Given the description of an element on the screen output the (x, y) to click on. 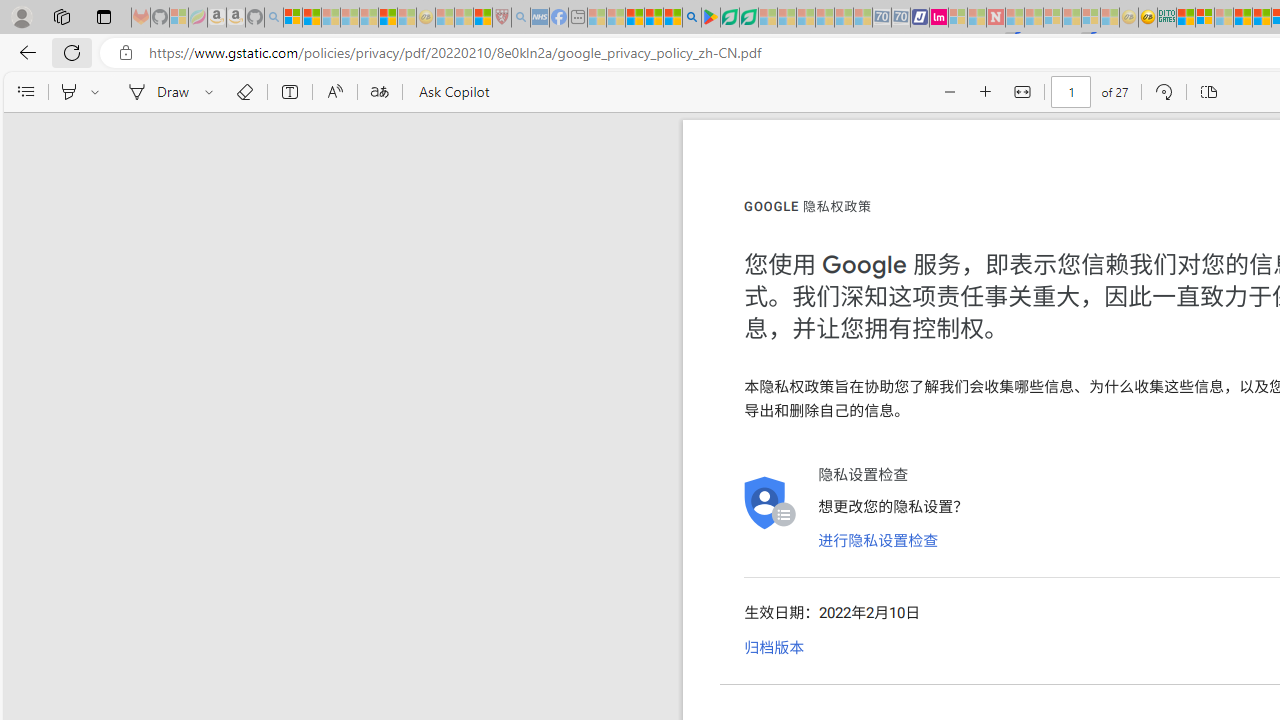
Fit to width (Ctrl+\) (1021, 92)
Latest Politics News & Archive | Newsweek.com - Sleeping (995, 17)
Select ink properties (212, 92)
MSNBC - MSN - Sleeping (596, 17)
Local - MSN (482, 17)
Microsoft account | Privacy - Sleeping (957, 17)
Draw (155, 92)
Microsoft Word - consumer-privacy address update 2.2021 (748, 17)
14 Common Myths Debunked By Scientific Facts - Sleeping (1034, 17)
